Given the description of an element on the screen output the (x, y) to click on. 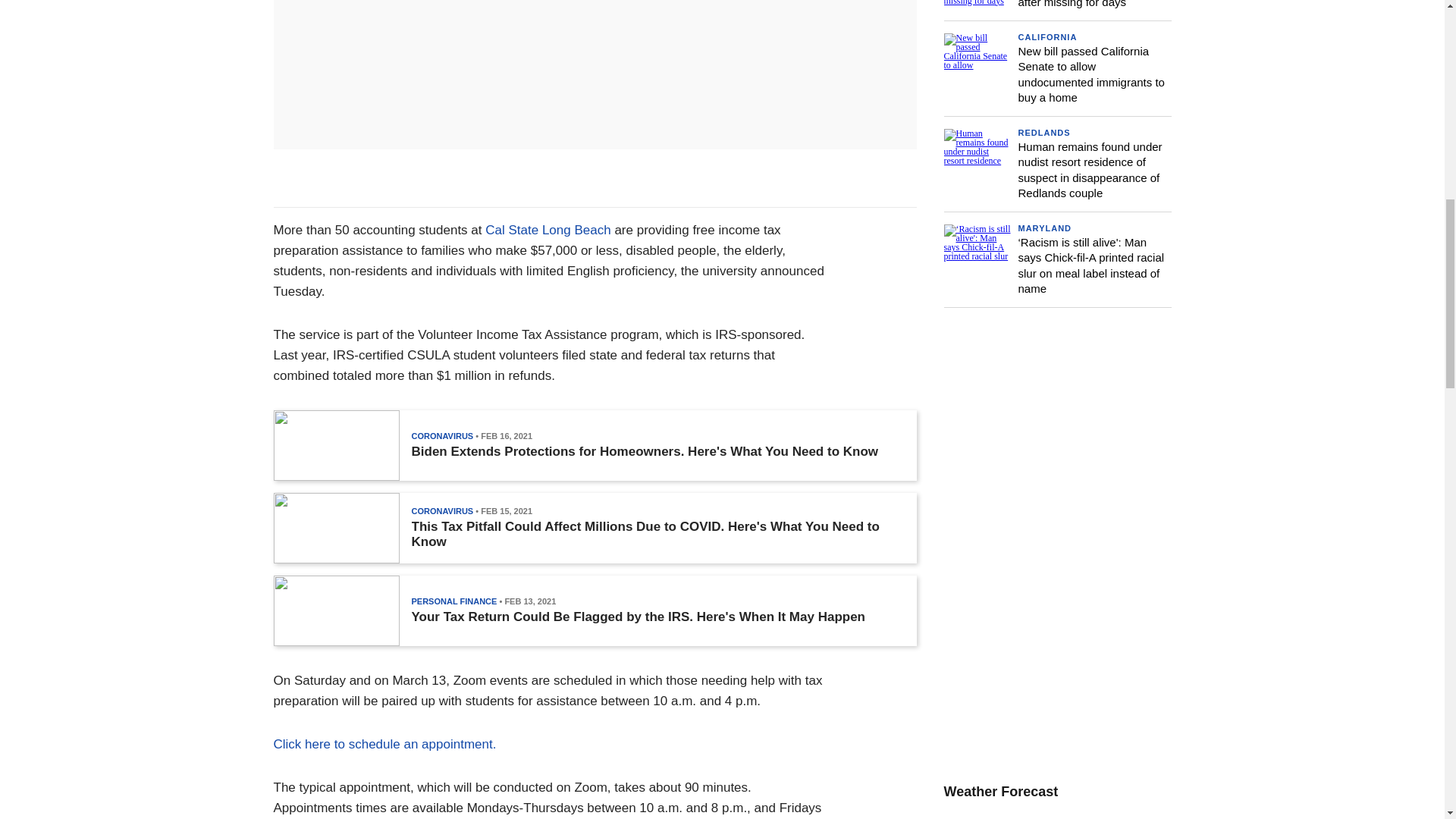
PERSONAL FINANCE (453, 601)
Click here to schedule an appointment. (384, 744)
CORONAVIRUS (441, 435)
Cal State Long Beach (547, 229)
CORONAVIRUS (441, 510)
